Given the description of an element on the screen output the (x, y) to click on. 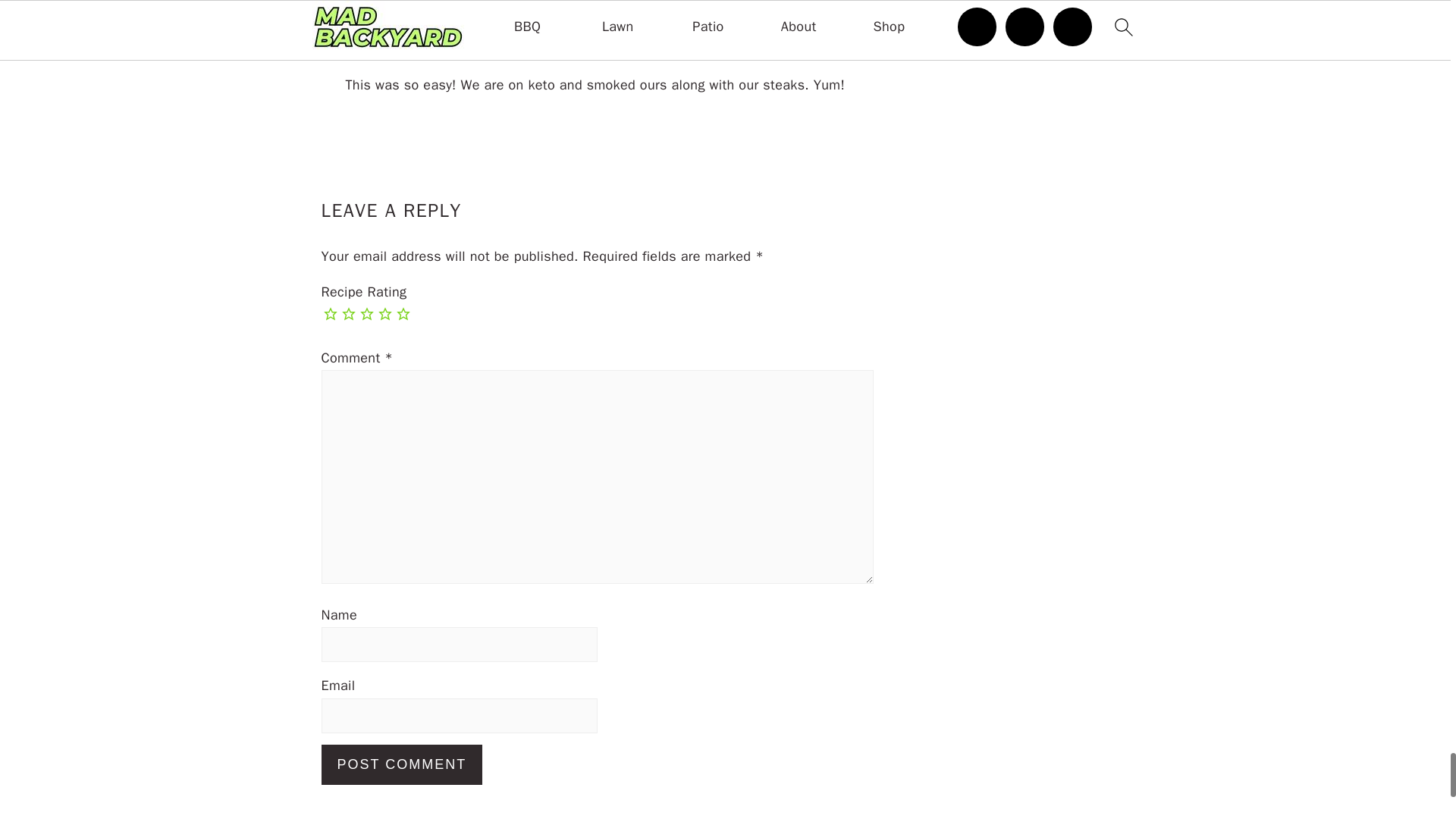
Post Comment (402, 764)
